Given the description of an element on the screen output the (x, y) to click on. 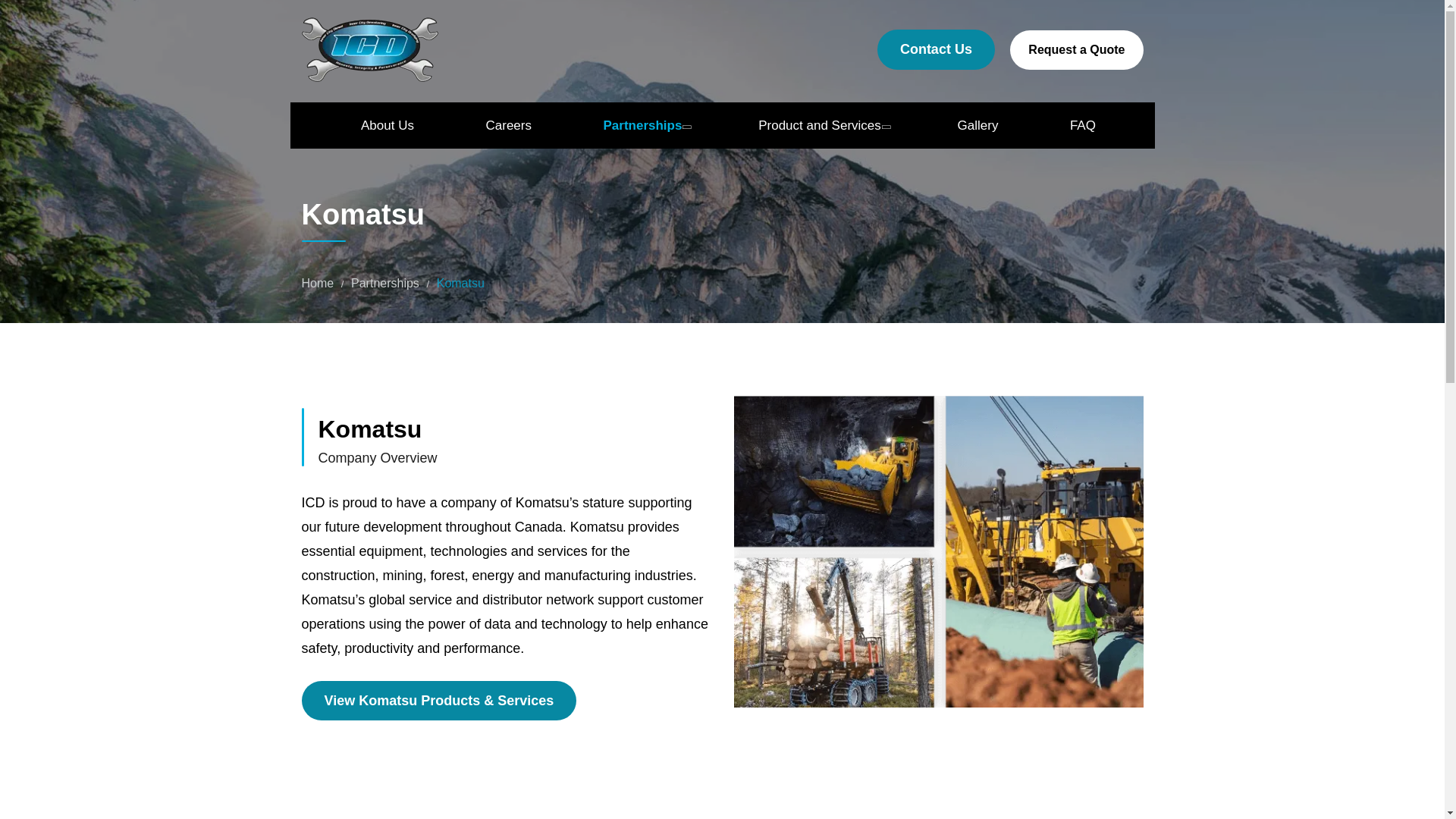
Contact Us (935, 49)
Careers (507, 124)
Request a Quote (1076, 49)
Partnerships (645, 124)
About Us (387, 124)
Product and Services (821, 124)
